Given the description of an element on the screen output the (x, y) to click on. 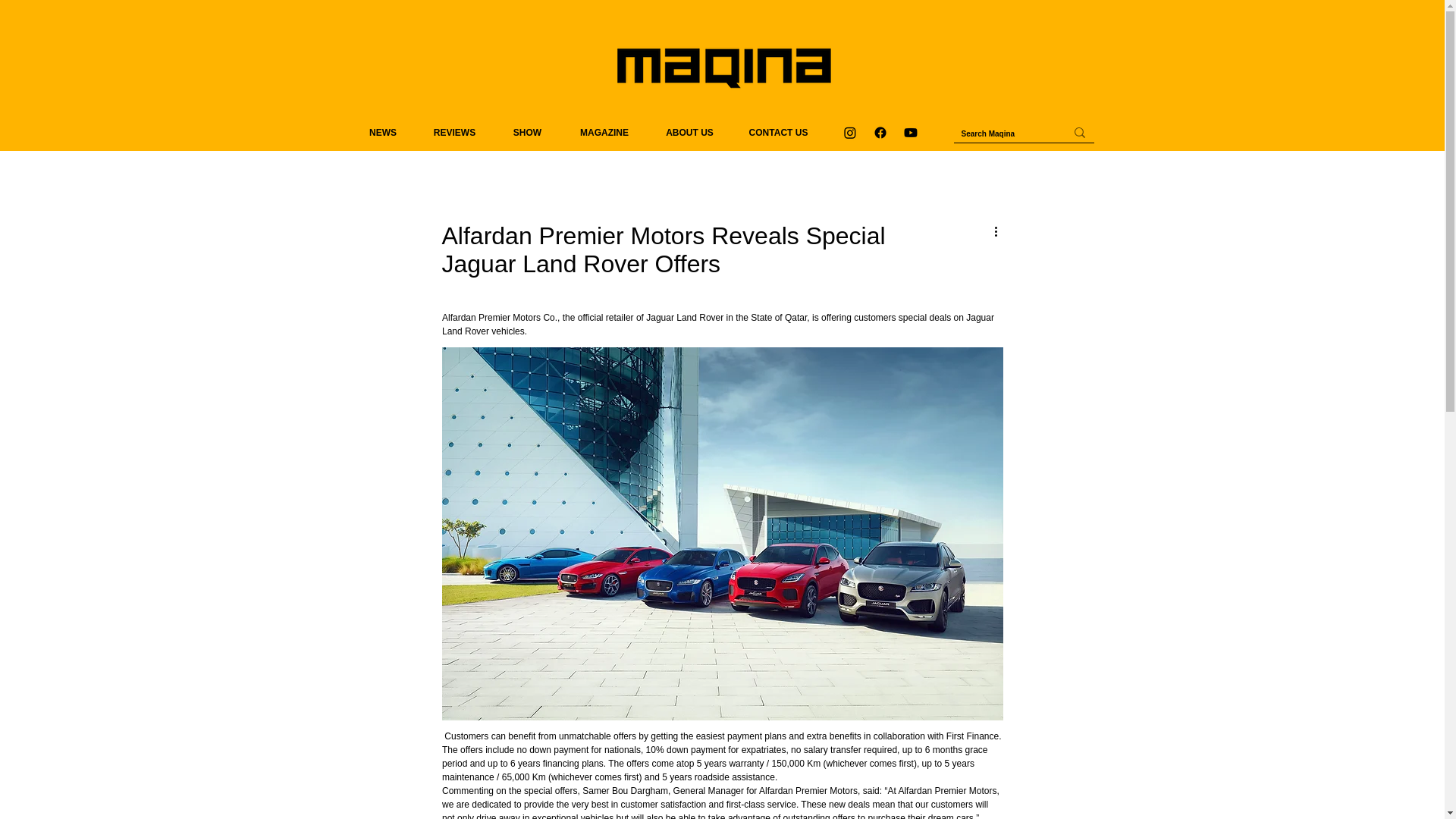
MAGAZINE (603, 132)
SHOW (527, 132)
NEWS (382, 132)
CONTACT US (777, 132)
REVIEWS (454, 132)
ABOUT US (688, 132)
